Given the description of an element on the screen output the (x, y) to click on. 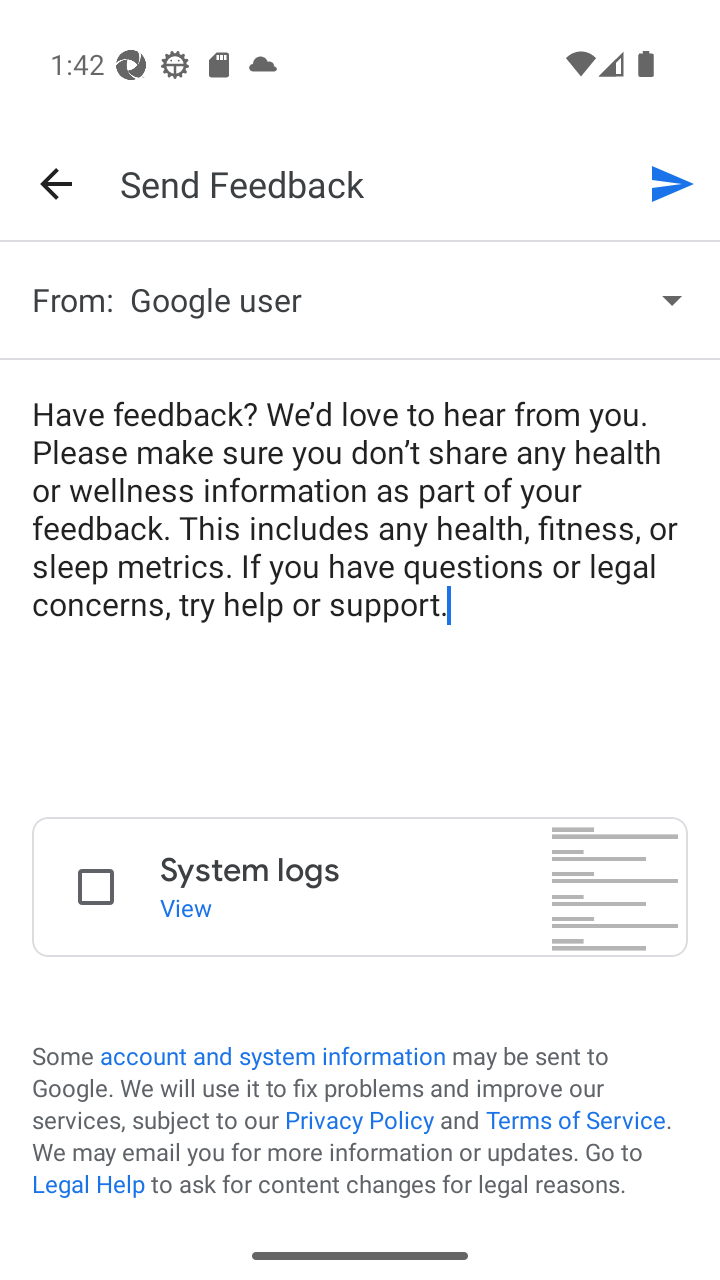
Navigate up (56, 184)
Send (672, 183)
From:  Google user (360, 299)
System logs View Preview system info (359, 886)
